Given the description of an element on the screen output the (x, y) to click on. 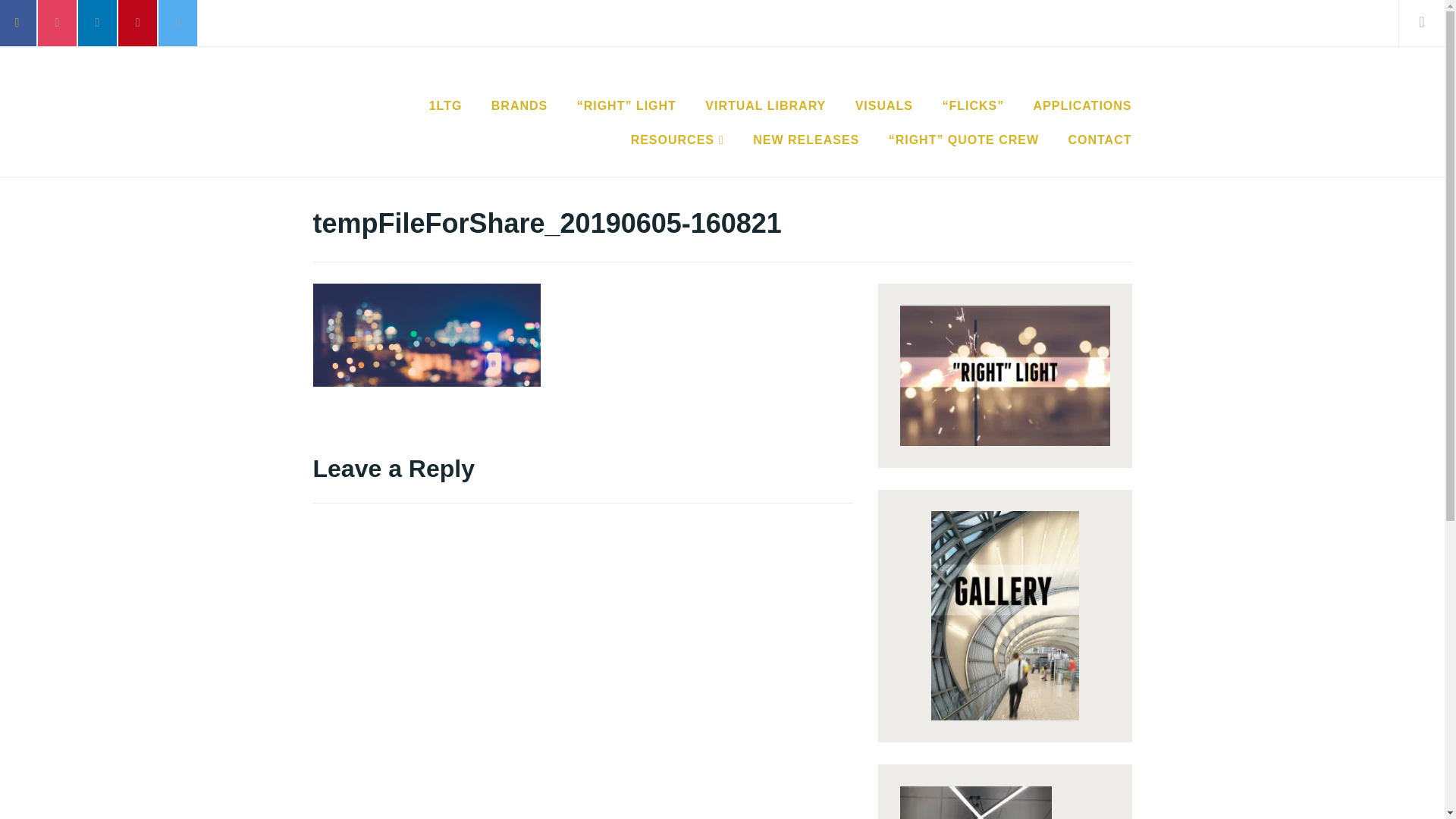
Twitter Element type: text (177, 21)
BRANDS Element type: text (519, 105)
LinkedIn Element type: text (97, 21)
Pinterest Element type: text (137, 21)
VIRTUAL LIBRARY Element type: text (765, 105)
RESOURCES Element type: text (677, 139)
Search for: Element type: hover (1438, 23)
APPLICATIONS Element type: text (1082, 105)
CONTACT Element type: text (1099, 139)
NEW RELEASES Element type: text (806, 139)
Instagram Element type: text (57, 21)
Search Element type: text (47, 21)
VISUALS Element type: text (884, 105)
1LTG Element type: text (445, 105)
